Given the description of an element on the screen output the (x, y) to click on. 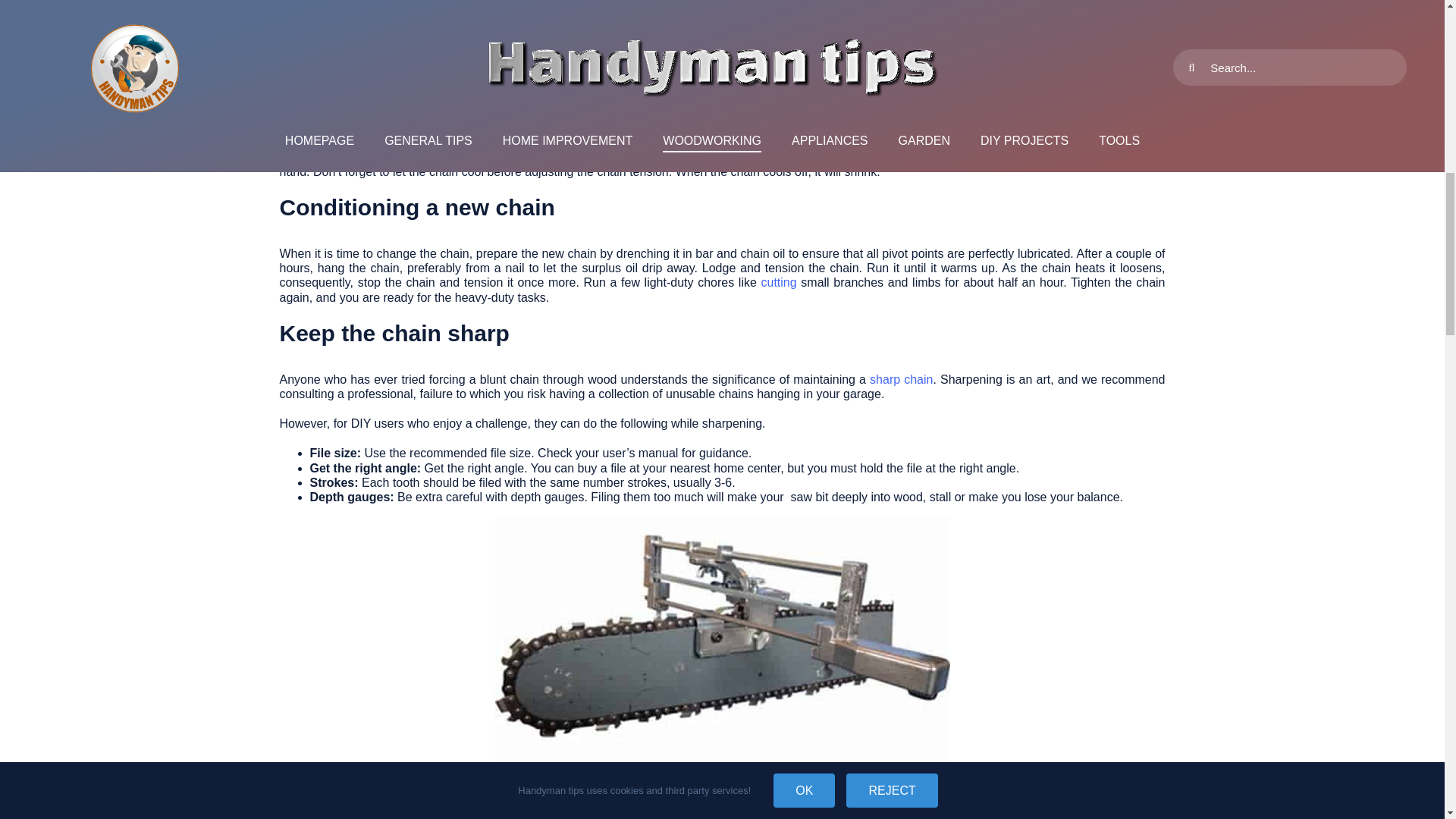
sharp chain (901, 379)
cutting (778, 282)
